Given the description of an element on the screen output the (x, y) to click on. 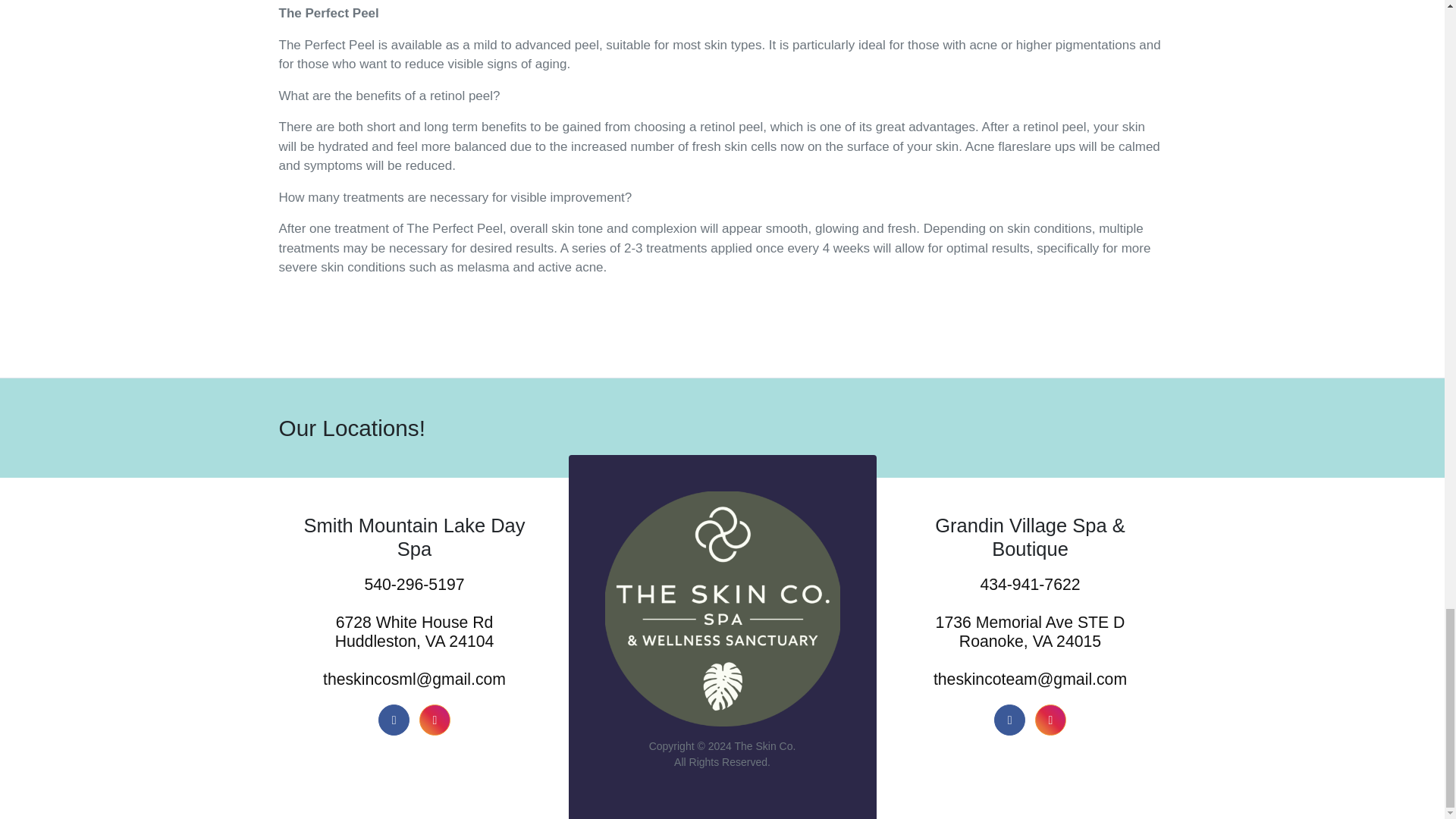
434-941-7622 (1030, 585)
6728 White House Rd Huddleston, VA 24104 (413, 632)
540-296-5197 (413, 585)
